Given the description of an element on the screen output the (x, y) to click on. 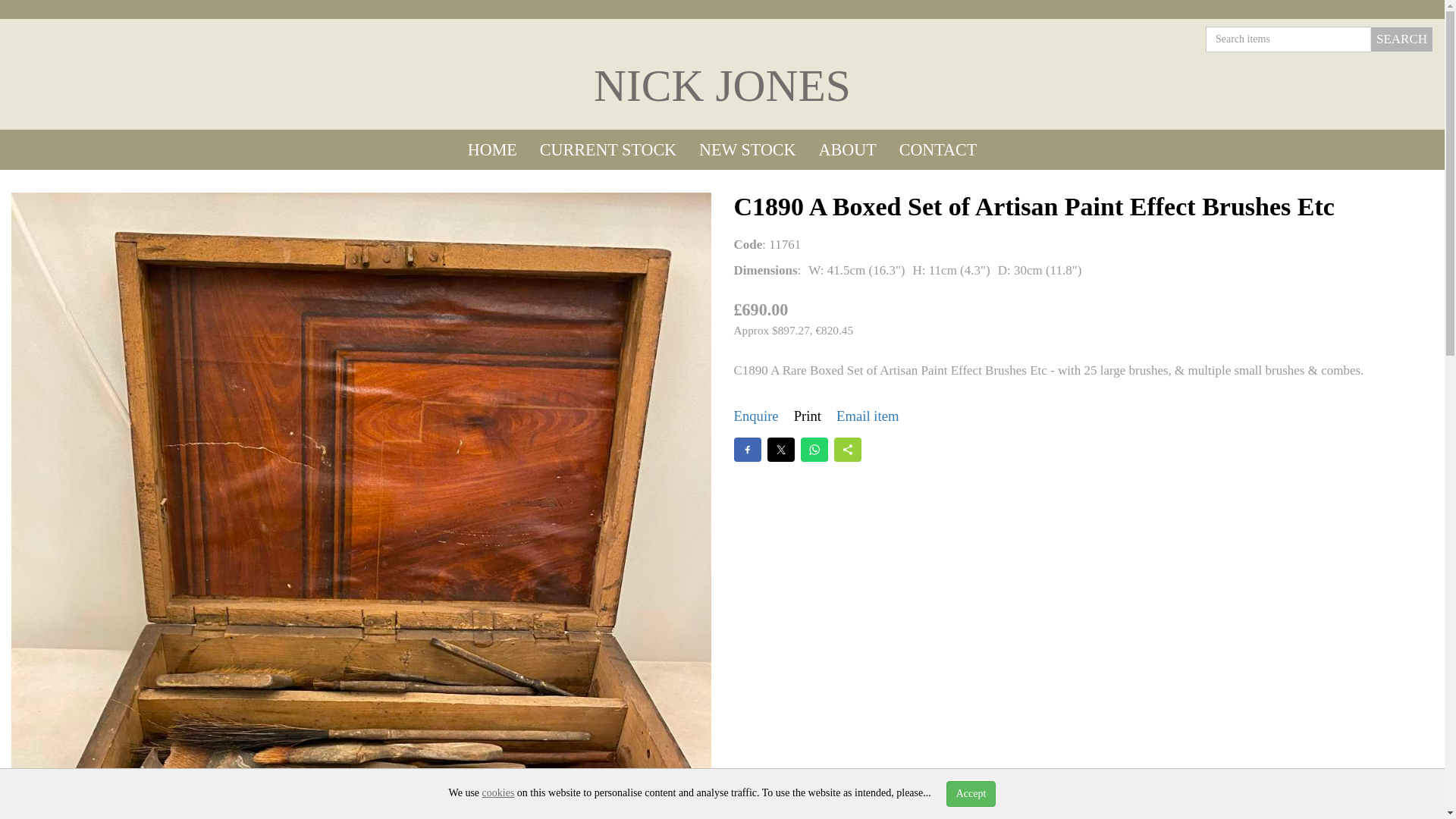
CONTACT (938, 149)
SEARCH (1401, 39)
NICK JONES (722, 85)
Print (807, 416)
NEW STOCK (746, 149)
ABOUT (848, 149)
CURRENT STOCK (607, 149)
cookies (498, 792)
Email item (867, 416)
Enquire (755, 416)
Accept (970, 793)
HOME (492, 149)
